Given the description of an element on the screen output the (x, y) to click on. 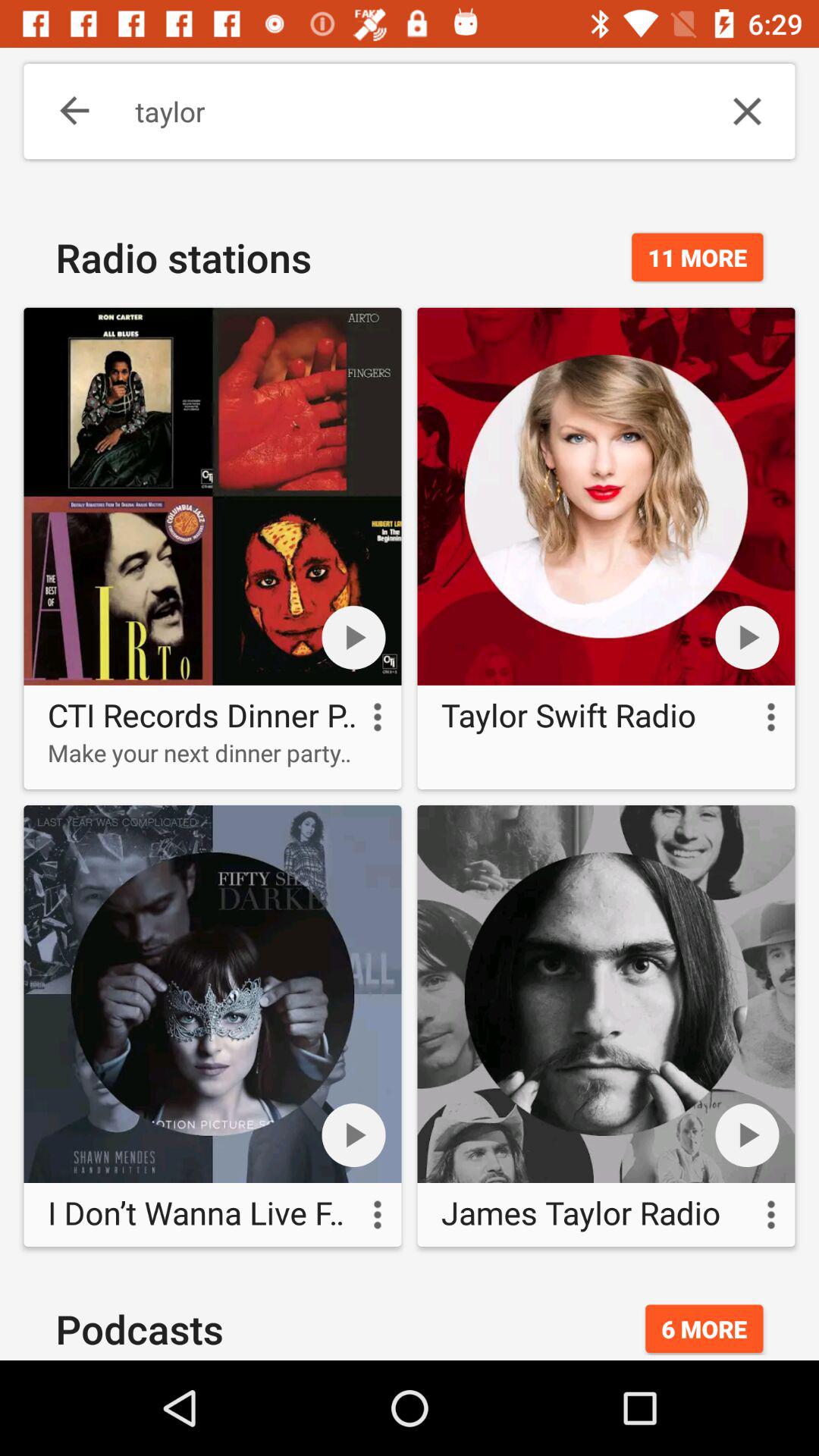
flip to the 6 more icon (704, 1328)
